Given the description of an element on the screen output the (x, y) to click on. 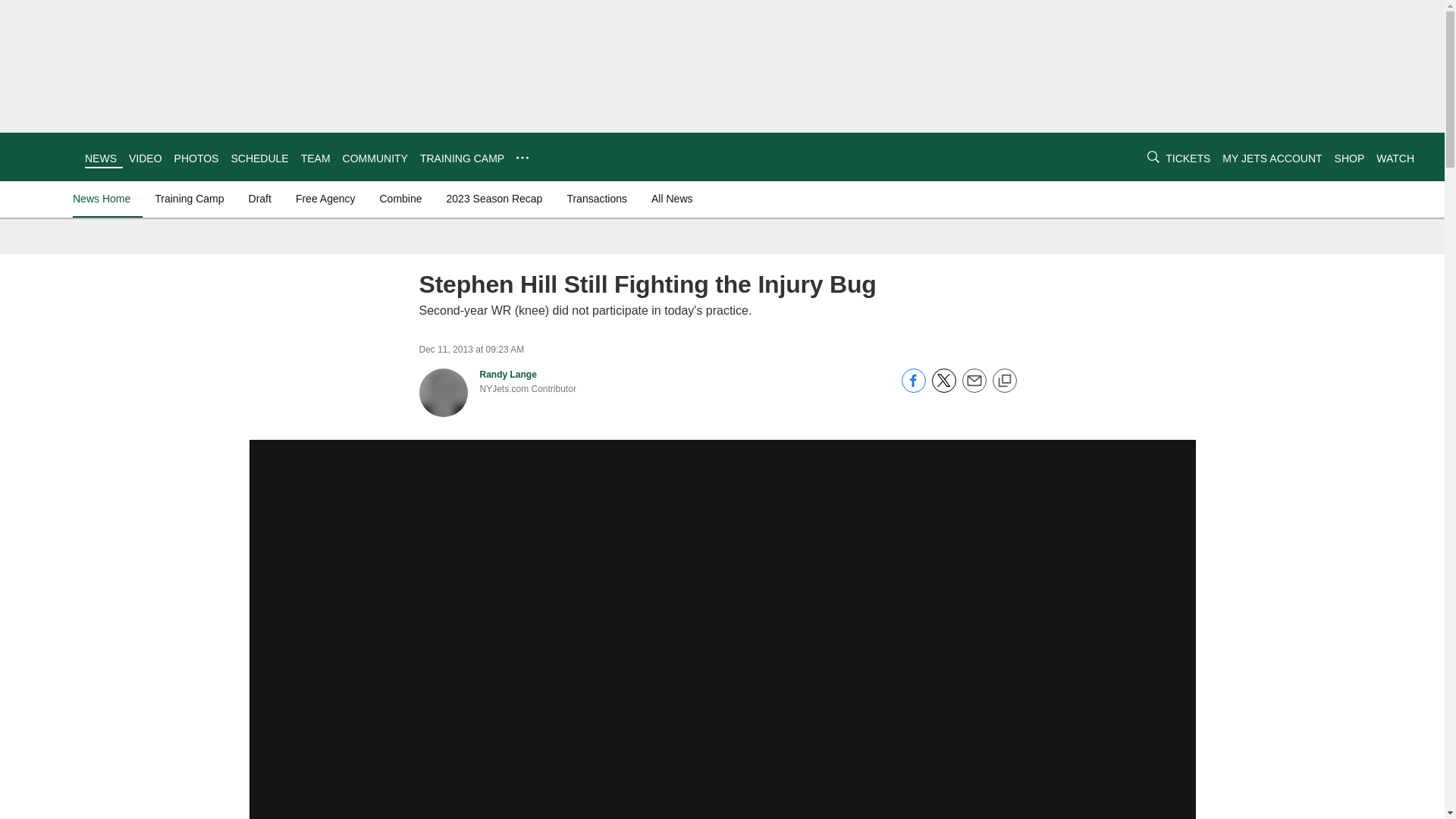
PHOTOS (196, 158)
Training Camp (189, 198)
PHOTOS (196, 158)
2023 Season Recap (494, 198)
TEAM (315, 158)
TRAINING CAMP (461, 158)
MY JETS ACCOUNT (1272, 158)
Free Agency (325, 198)
All News (671, 198)
Transactions (596, 198)
